Given the description of an element on the screen output the (x, y) to click on. 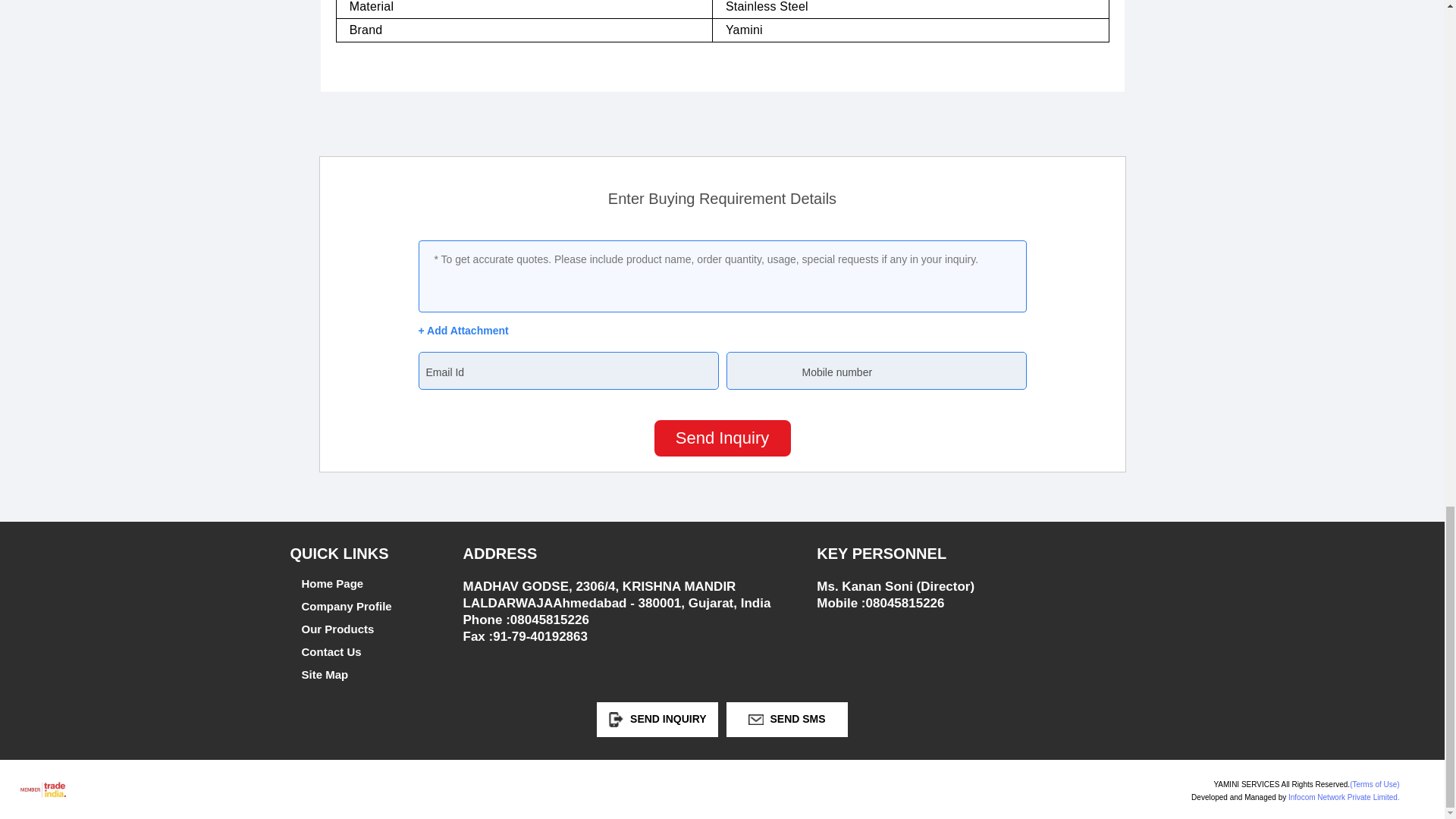
Send Inquiry (615, 719)
Send SMS (755, 719)
Send Inquiry (721, 438)
